Given the description of an element on the screen output the (x, y) to click on. 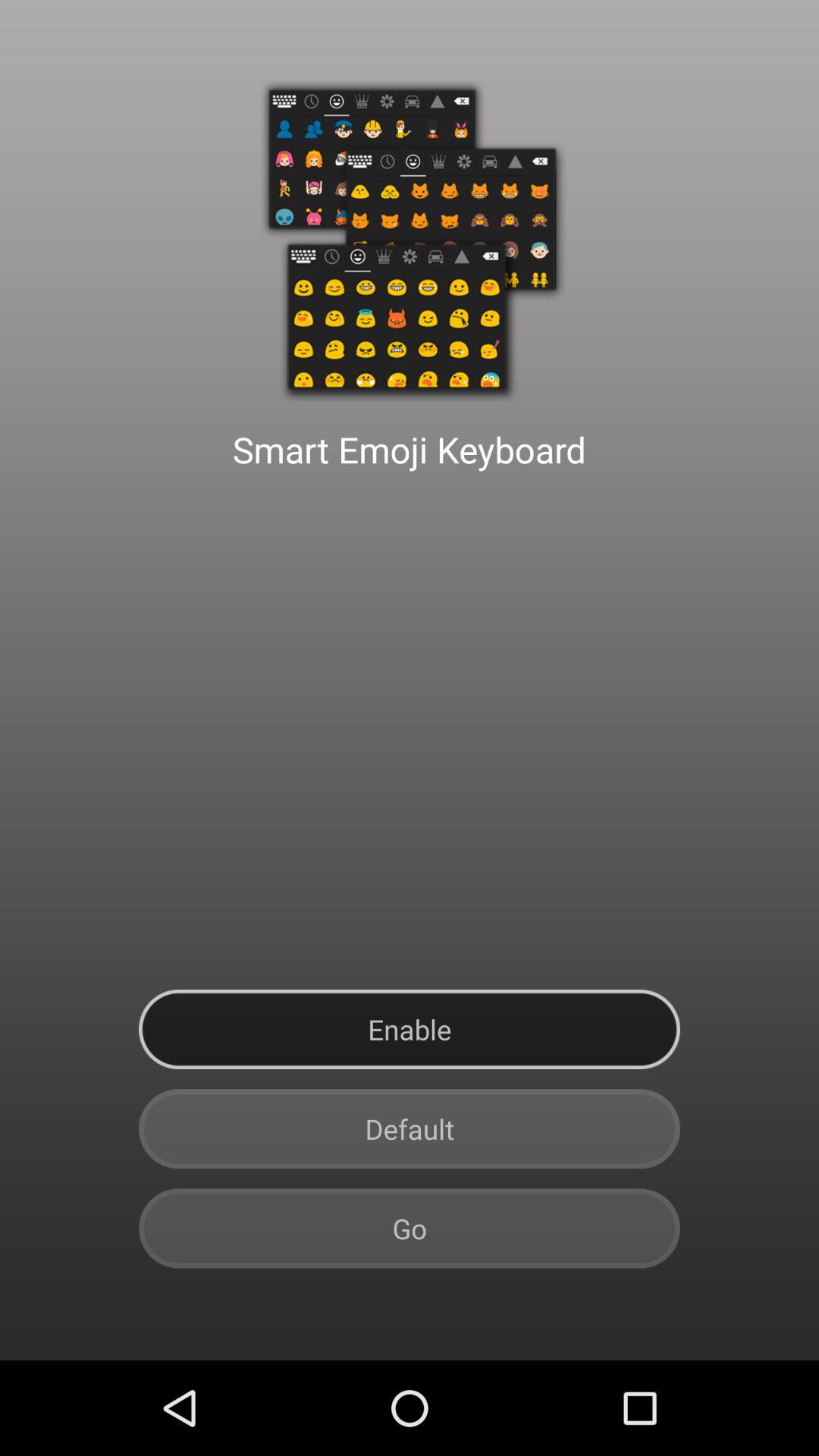
click the enable item (409, 1029)
